Given the description of an element on the screen output the (x, y) to click on. 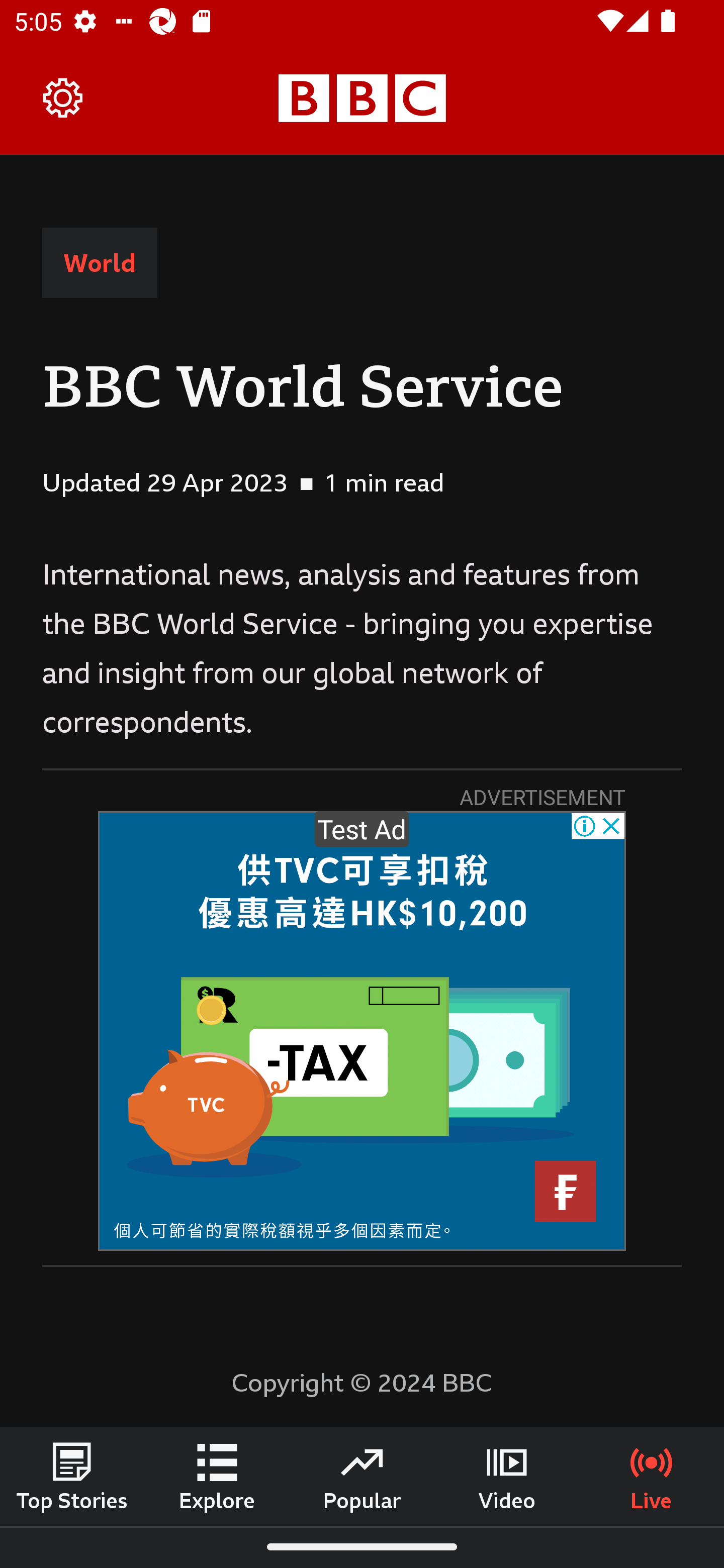
Settings (63, 97)
World (99, 263)
Fidelity javascript:window.open(window (361, 1030)
Top Stories (72, 1475)
Explore (216, 1475)
Popular (361, 1475)
Video (506, 1475)
